Given the description of an element on the screen output the (x, y) to click on. 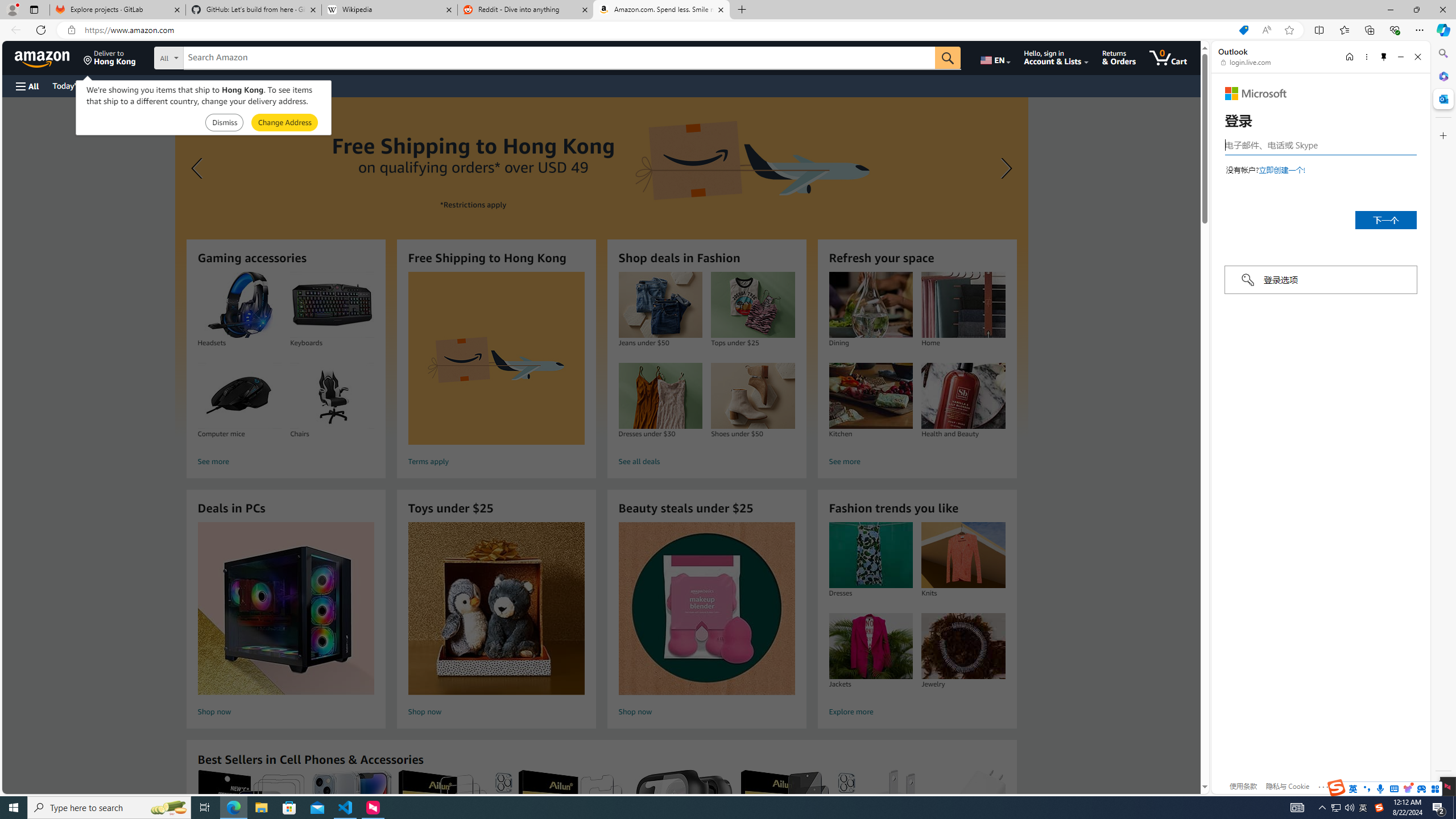
Hello, sign in Account & Lists (1056, 57)
Computer mice (239, 395)
Health and Beauty (963, 395)
Registry (205, 85)
Search Amazon (559, 57)
Knits (963, 555)
Go (947, 57)
Deals in PCs Shop now (285, 620)
